Given the description of an element on the screen output the (x, y) to click on. 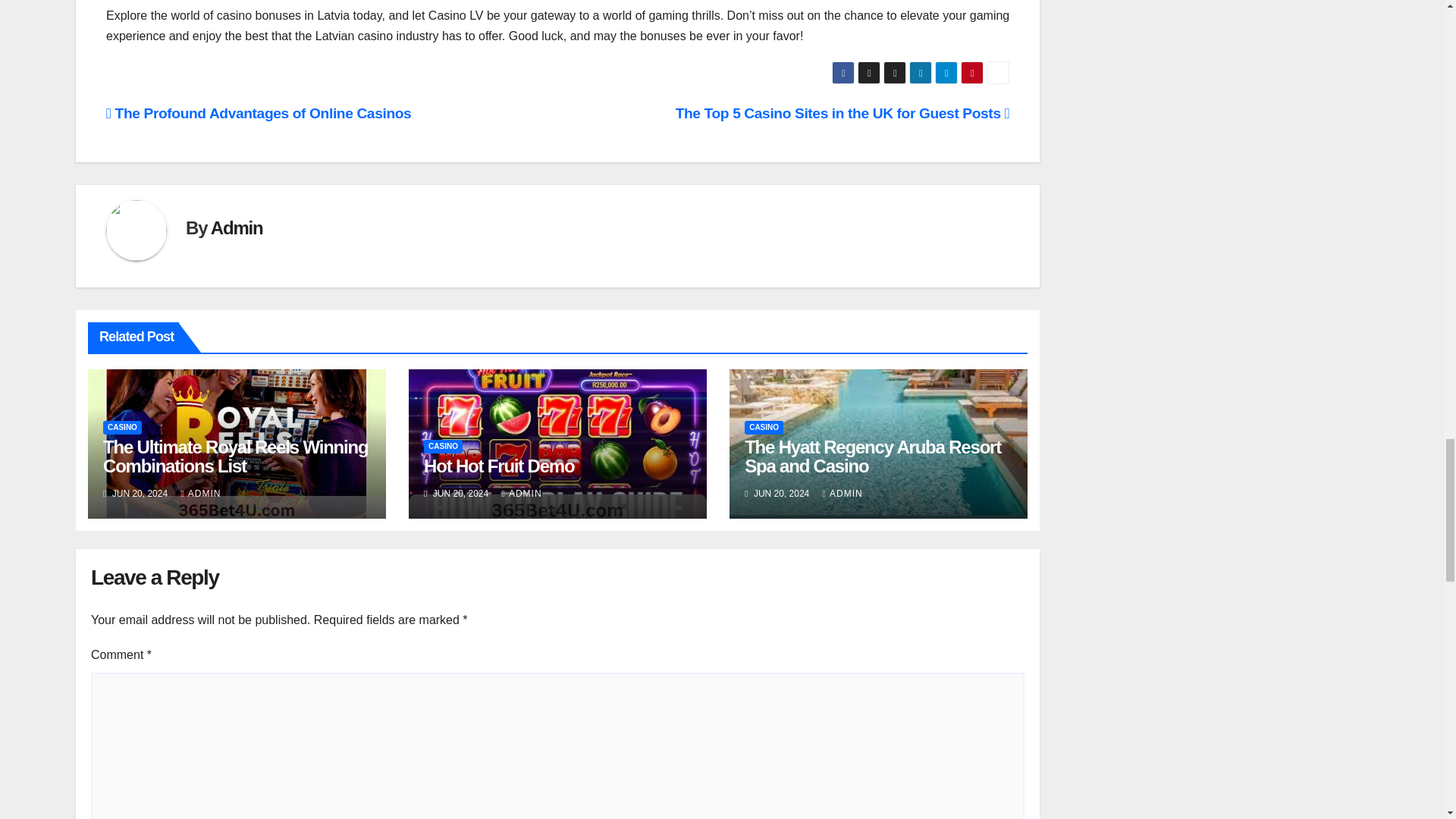
Permalink to: Hot Hot Fruit Demo (498, 465)
